Given the description of an element on the screen output the (x, y) to click on. 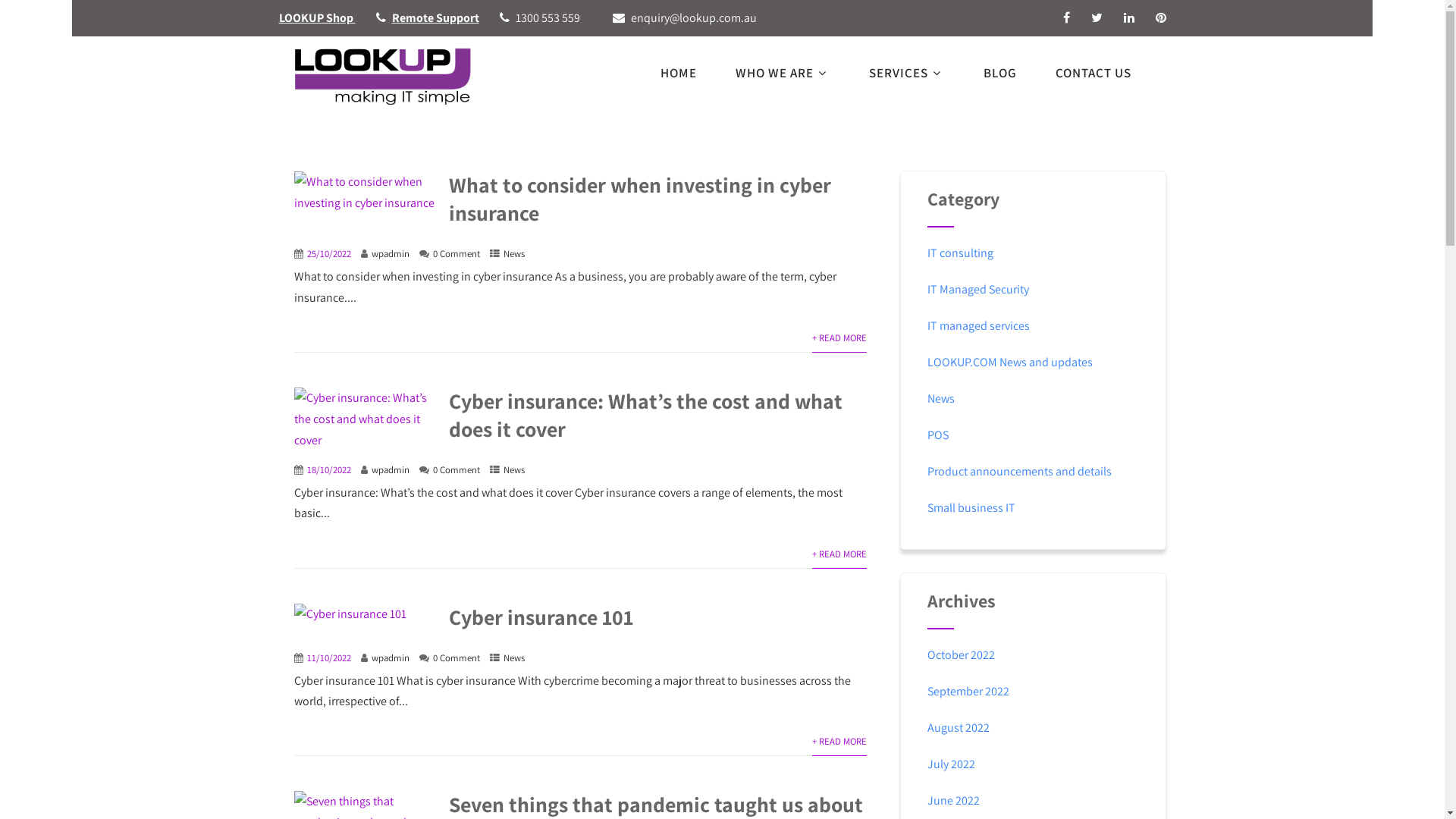
October 2022 Element type: text (960, 654)
Product announcements and details Element type: text (1019, 471)
+ READ MORE Element type: text (839, 337)
June 2022 Element type: text (953, 800)
IT consulting Element type: text (960, 252)
WHO WE ARE Element type: text (782, 72)
Cyber insurance 101 Element type: text (540, 616)
News Element type: text (513, 657)
facebook Element type: hover (1066, 17)
July 2022 Element type: text (951, 763)
wpadmin Element type: text (390, 469)
SERVICES Element type: text (906, 72)
linkedin Element type: hover (1128, 17)
+ READ MORE Element type: text (839, 741)
twitter Element type: hover (1095, 17)
HOME Element type: text (677, 72)
wpadmin Element type: text (390, 657)
August 2022 Element type: text (958, 727)
LOOKUP.COM News and updates Element type: text (1009, 362)
POS Element type: text (937, 434)
0 Comment Element type: text (455, 469)
September 2022 Element type: text (968, 691)
Remote Support Element type: text (434, 17)
News Element type: text (940, 398)
0 Comment Element type: text (455, 657)
CONTACT US Element type: text (1101, 72)
What to consider when investing in cyber insurance Element type: text (639, 198)
News Element type: text (513, 469)
+ READ MORE Element type: text (839, 553)
IT Managed Security Element type: text (978, 289)
25/10/2022 Element type: text (328, 253)
News Element type: text (513, 253)
IT managed services Element type: text (978, 325)
Small business IT Element type: text (971, 507)
enquiry@lookup.com.au Element type: text (693, 17)
LOOKUP Shop Element type: text (317, 17)
18/10/2022 Element type: text (328, 469)
wpadmin Element type: text (390, 253)
11/10/2022 Element type: text (328, 657)
0 Comment Element type: text (455, 253)
BLOG Element type: text (999, 72)
pinterest Element type: hover (1160, 17)
